Given the description of an element on the screen output the (x, y) to click on. 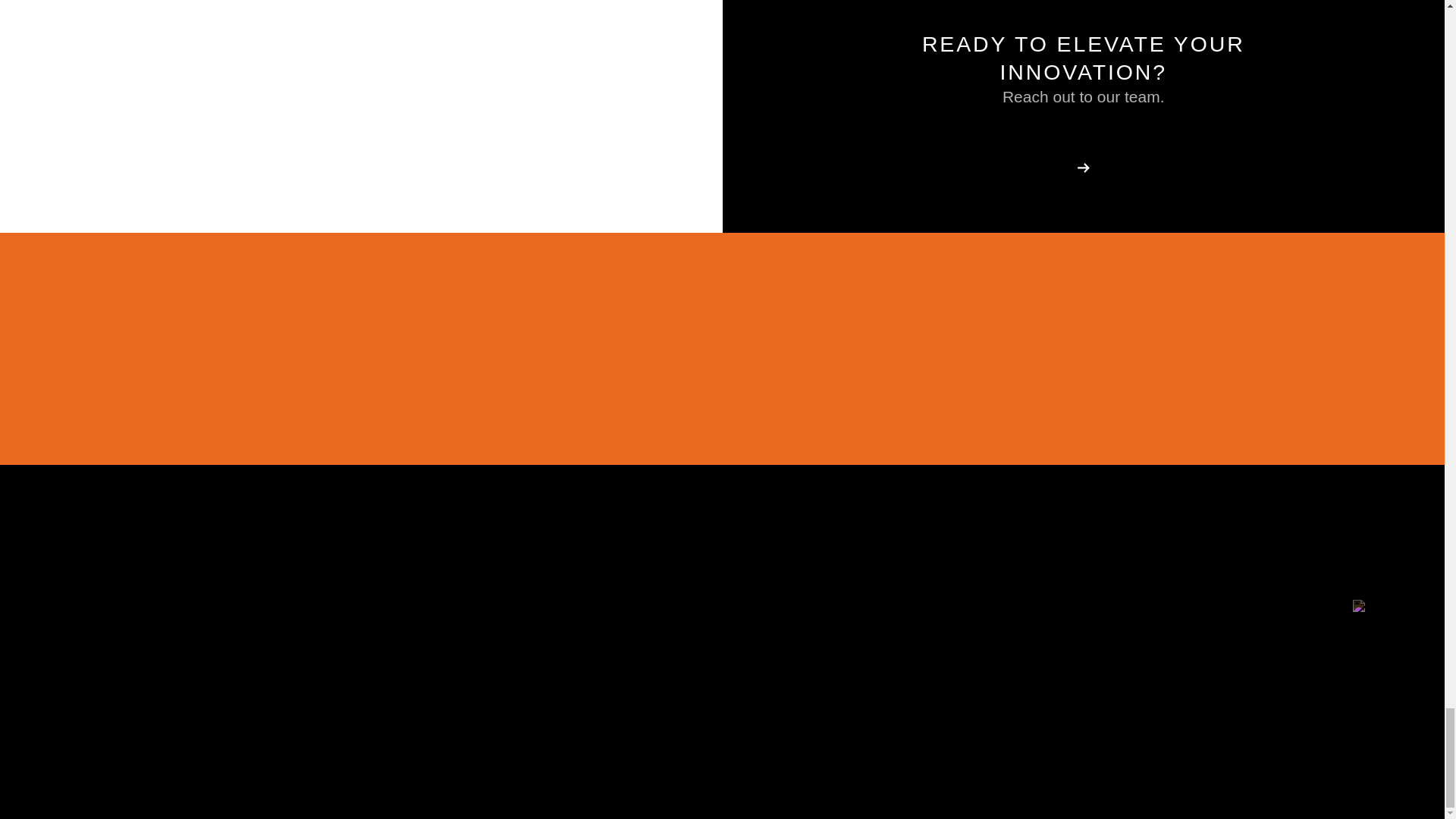
Sign up (1278, 348)
